Given the description of an element on the screen output the (x, y) to click on. 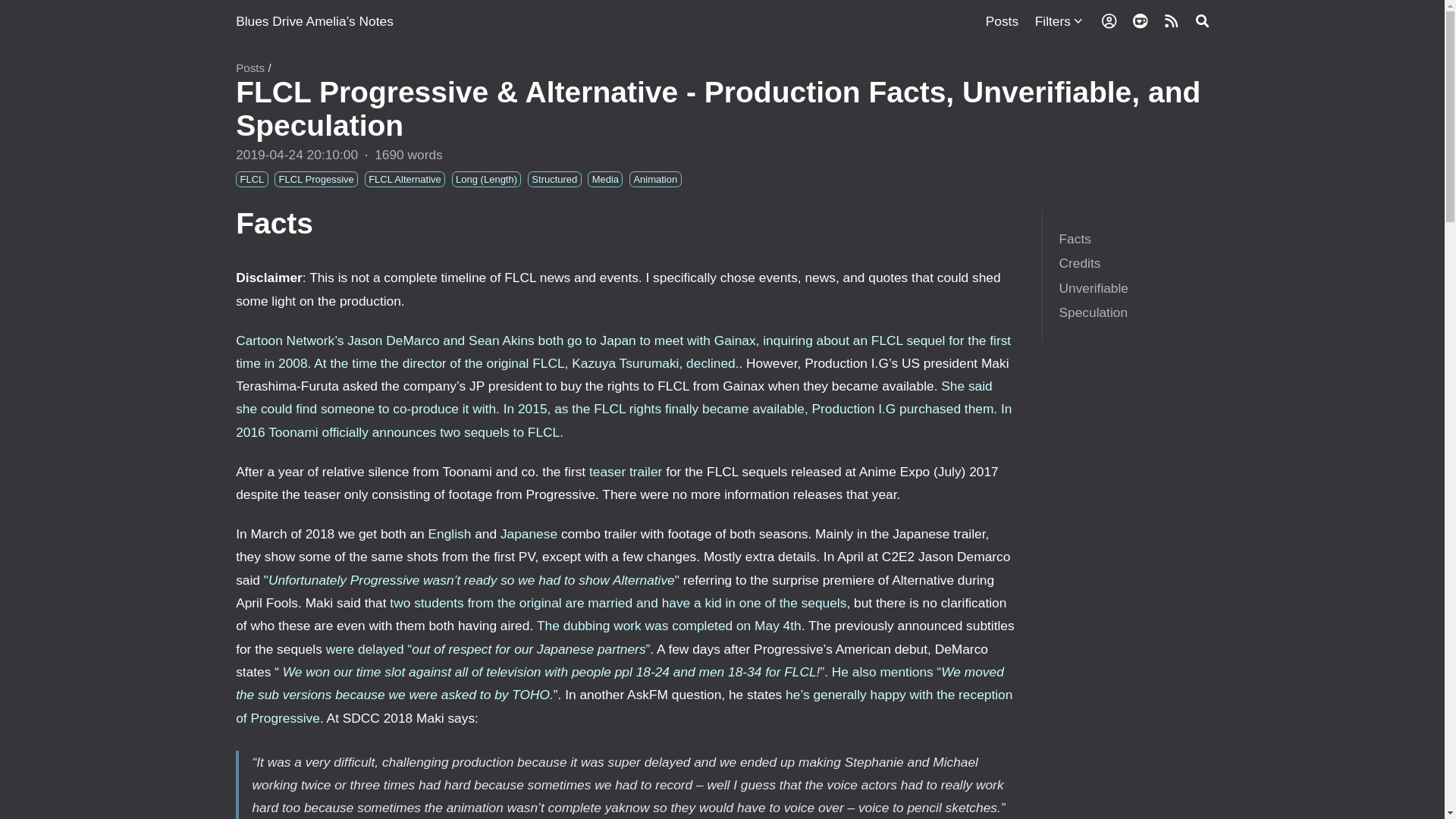
teaser trailer (625, 471)
Filters (1052, 21)
Facts (1074, 238)
In 2016 Toonami officially announces two sequels to FLCL. (623, 419)
Posts (1001, 21)
Credits (1079, 263)
She said she could find someone to co-produce it with. (613, 397)
English (449, 533)
Posts (249, 67)
Speculation (1092, 312)
Unverifiable (1093, 287)
Japanese (528, 533)
